Given the description of an element on the screen output the (x, y) to click on. 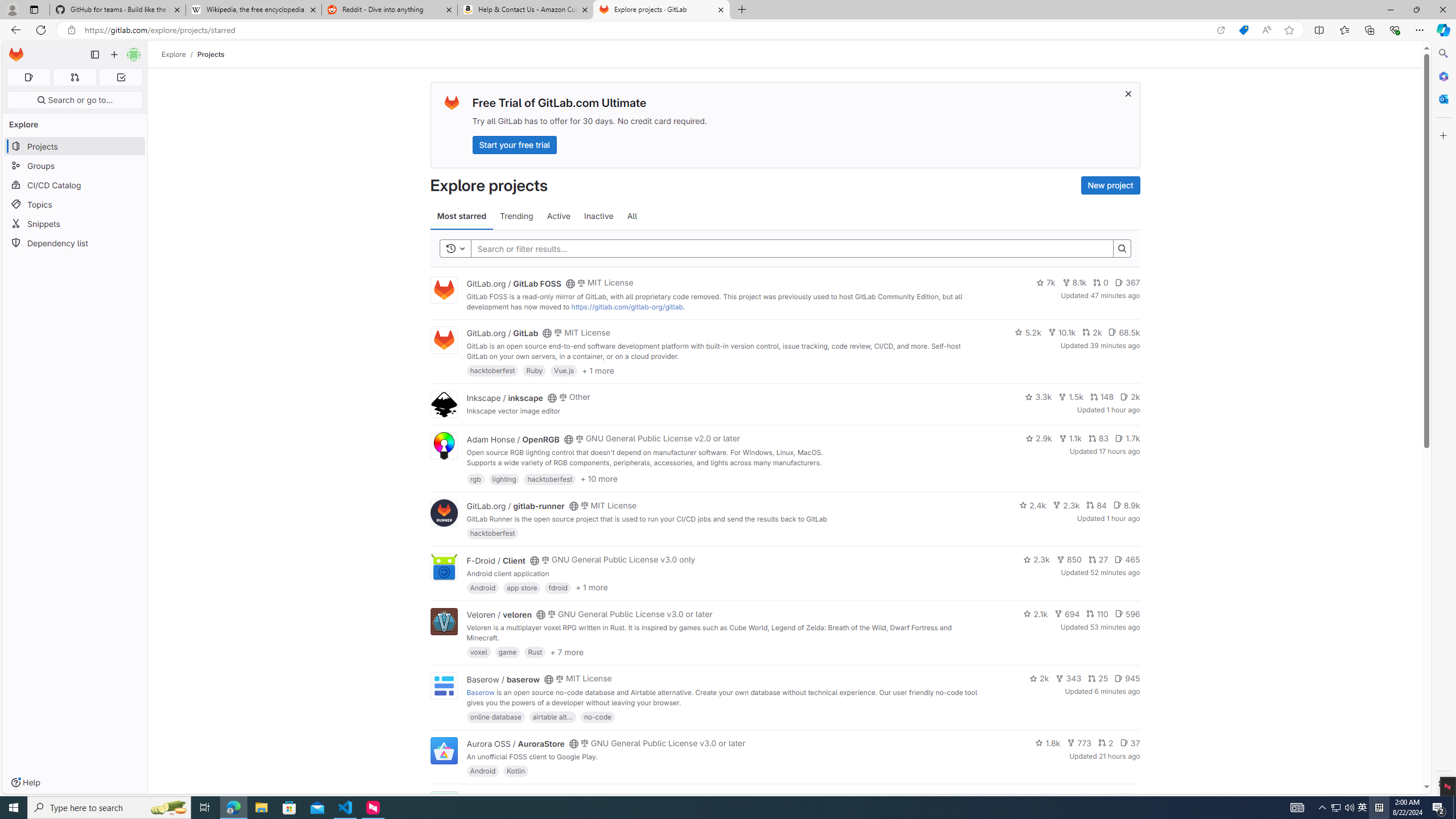
Inactive (598, 216)
GitLab.org / GitLab FOSS (513, 283)
Start your free trial (514, 144)
Android (482, 770)
8.9k (1126, 504)
Groups (74, 165)
Aurora OSS / AuroraStore (514, 743)
hacktoberfest (492, 533)
GitLab.org / GitLab (501, 333)
Assigned issues 0 (28, 76)
